Given the description of an element on the screen output the (x, y) to click on. 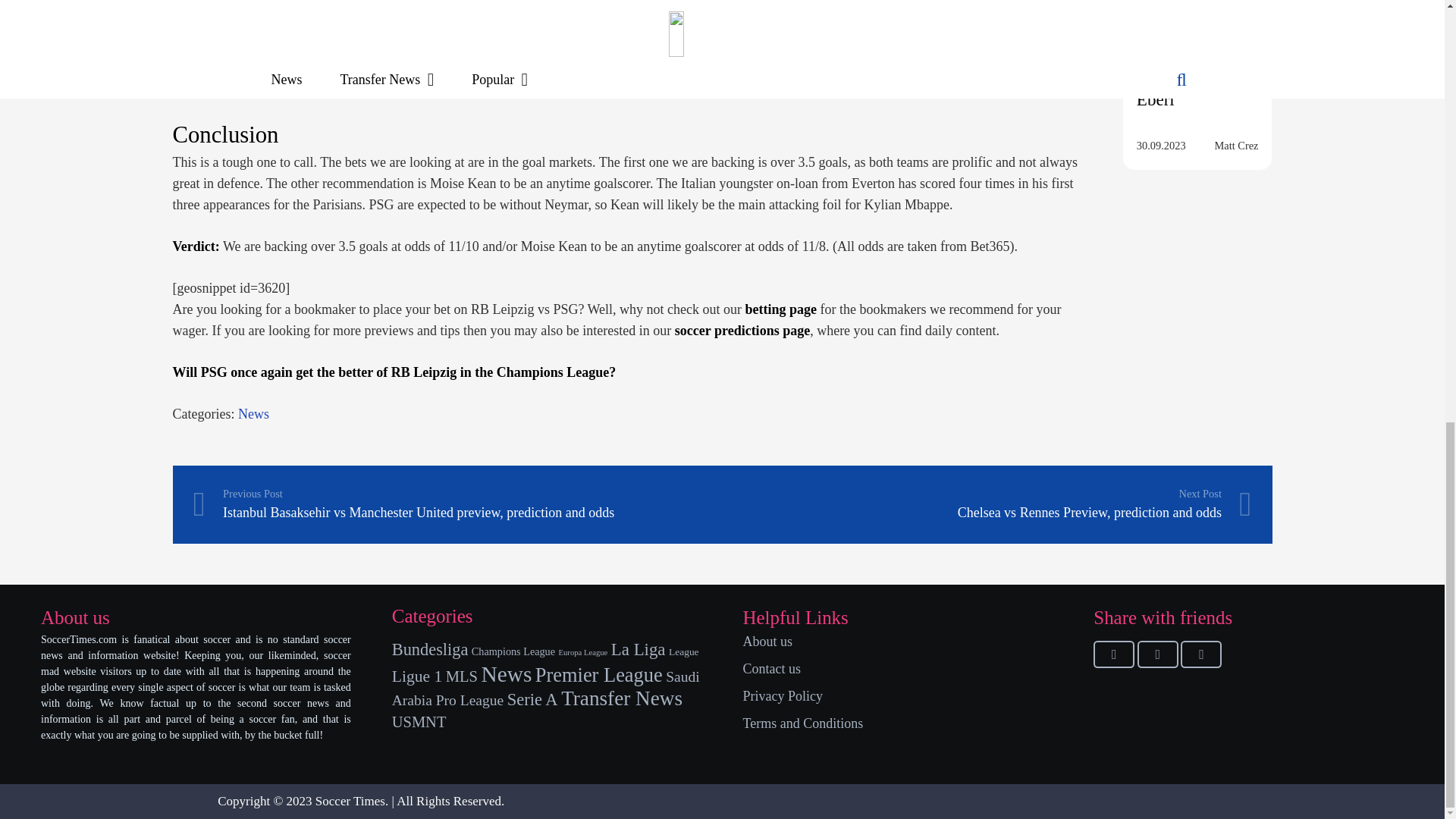
Chelsea vs Rennes Preview, prediction and odds (986, 504)
RB Leipzig fire Sporting Director Max Eberl (1191, 61)
RB Leipzig fire Sporting Director Max Eberl (1197, 18)
Share this (1200, 654)
betting page (780, 309)
Share this (986, 504)
Back to top (1113, 654)
